Given the description of an element on the screen output the (x, y) to click on. 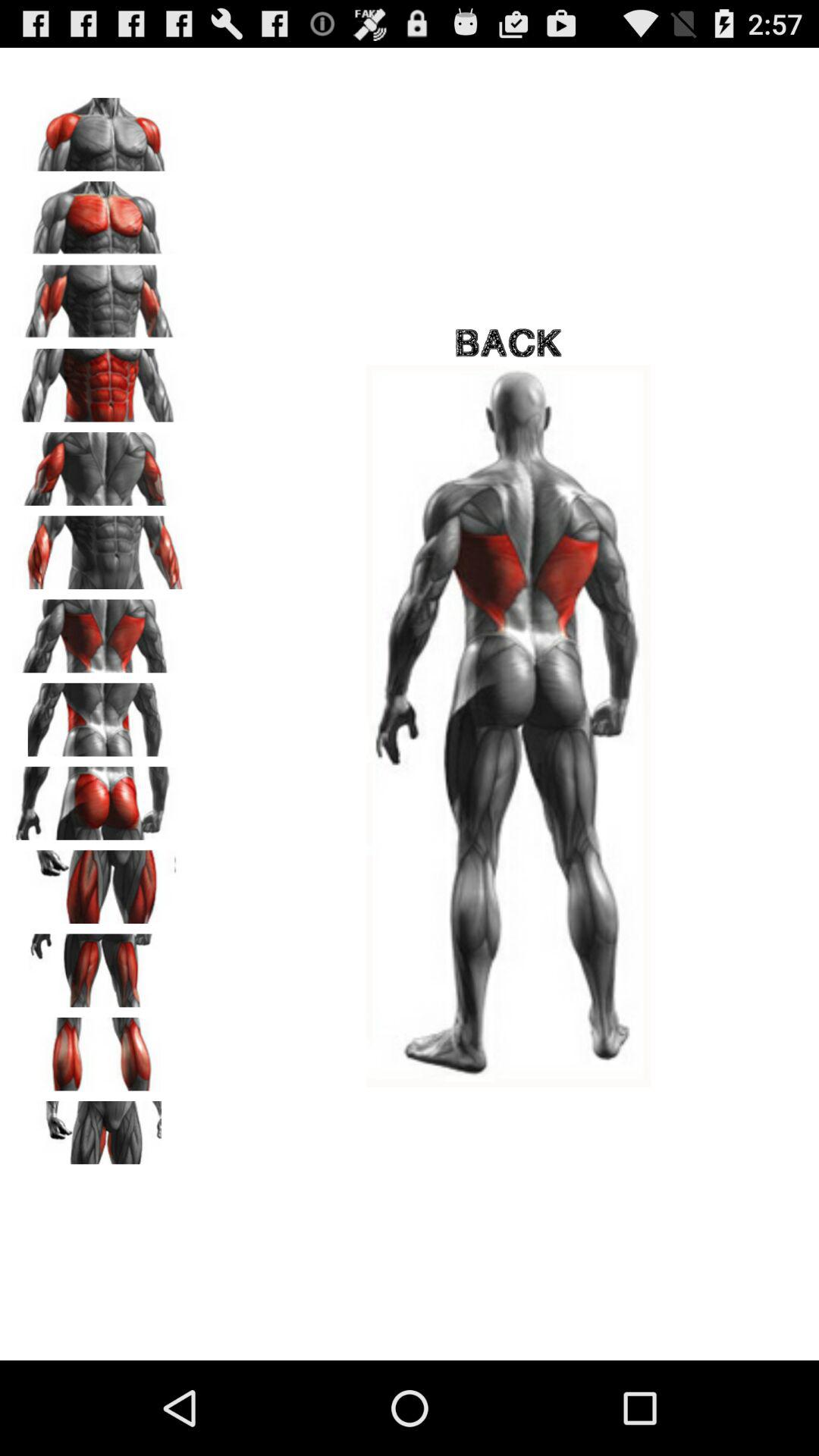
target biceps (99, 296)
